Given the description of an element on the screen output the (x, y) to click on. 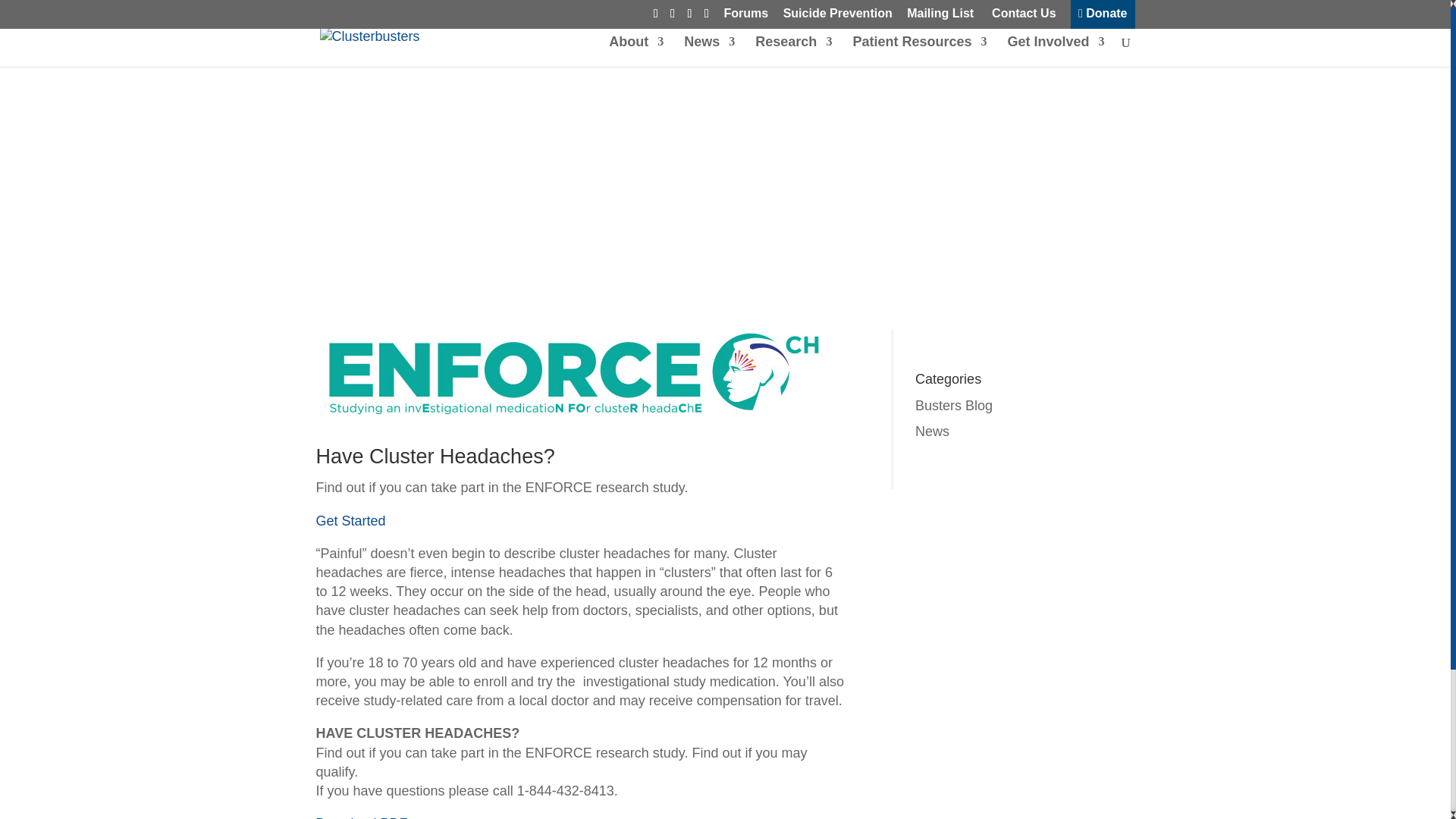
Get Involved (1055, 51)
Mailing List (940, 17)
Research (793, 51)
News (709, 51)
About (635, 51)
Patient Resources (919, 51)
Contact Us (1022, 17)
Suicide Prevention (837, 17)
Posts by Bob Wold (363, 196)
Donate (1102, 17)
Forums (745, 17)
